Given the description of an element on the screen output the (x, y) to click on. 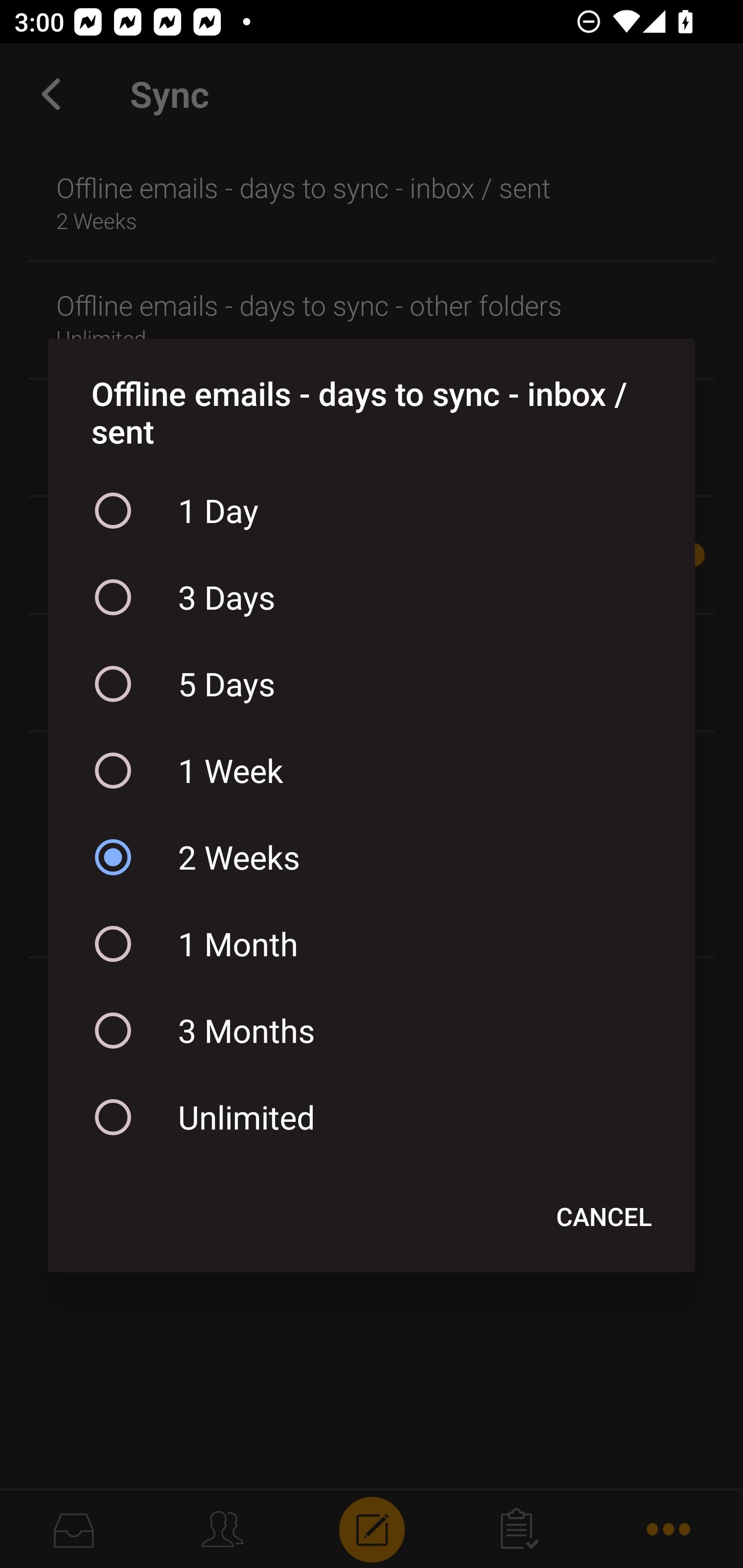
1 Day (371, 510)
3 Days (371, 597)
5 Days (371, 684)
1 Week (371, 770)
2 Weeks (371, 856)
1 Month (371, 943)
3 Months (371, 1030)
Unlimited (371, 1117)
CANCEL (603, 1216)
